Given the description of an element on the screen output the (x, y) to click on. 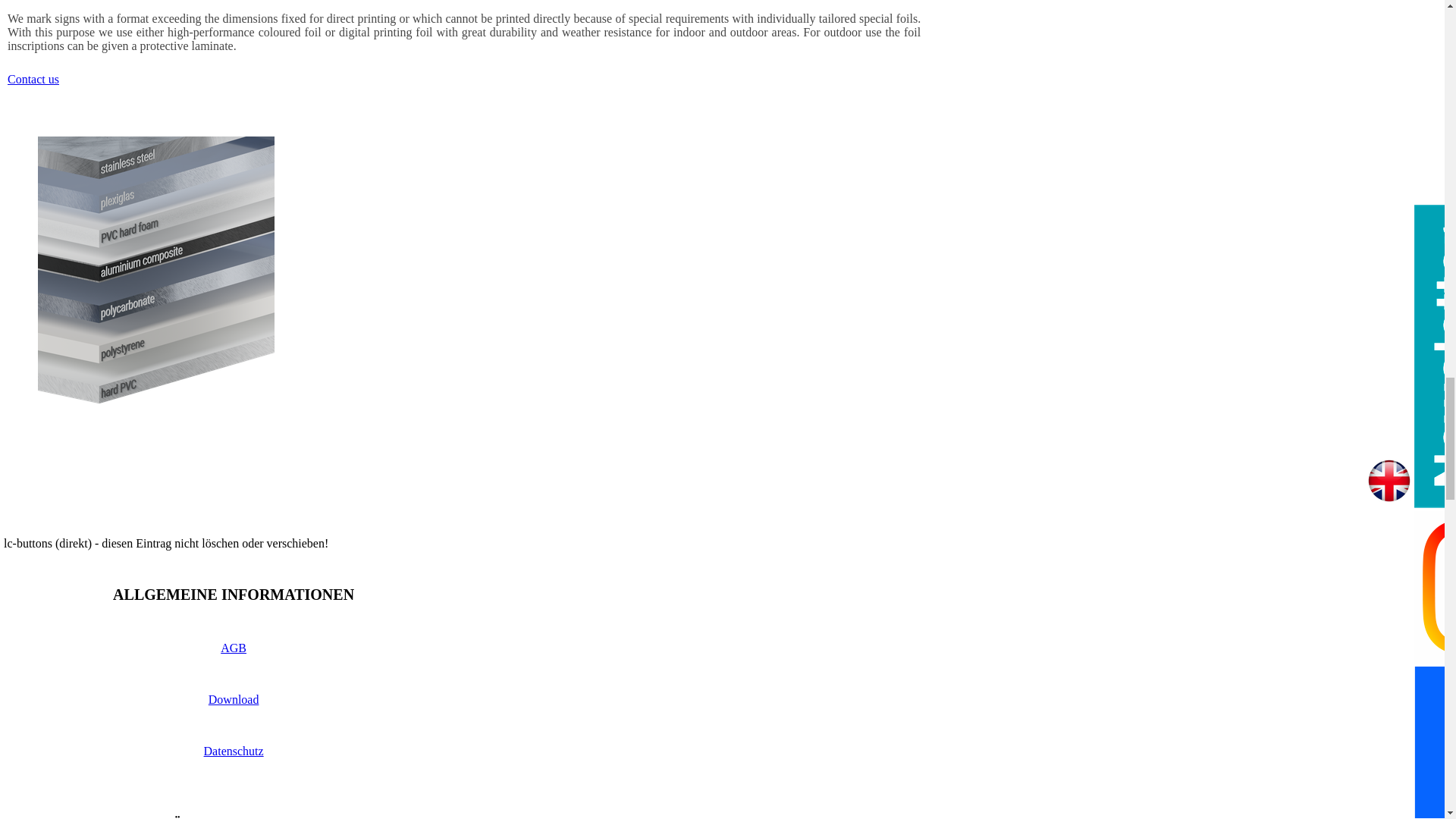
AGB (233, 647)
Datenschutz (233, 750)
DOWNLOAD (233, 698)
